Given the description of an element on the screen output the (x, y) to click on. 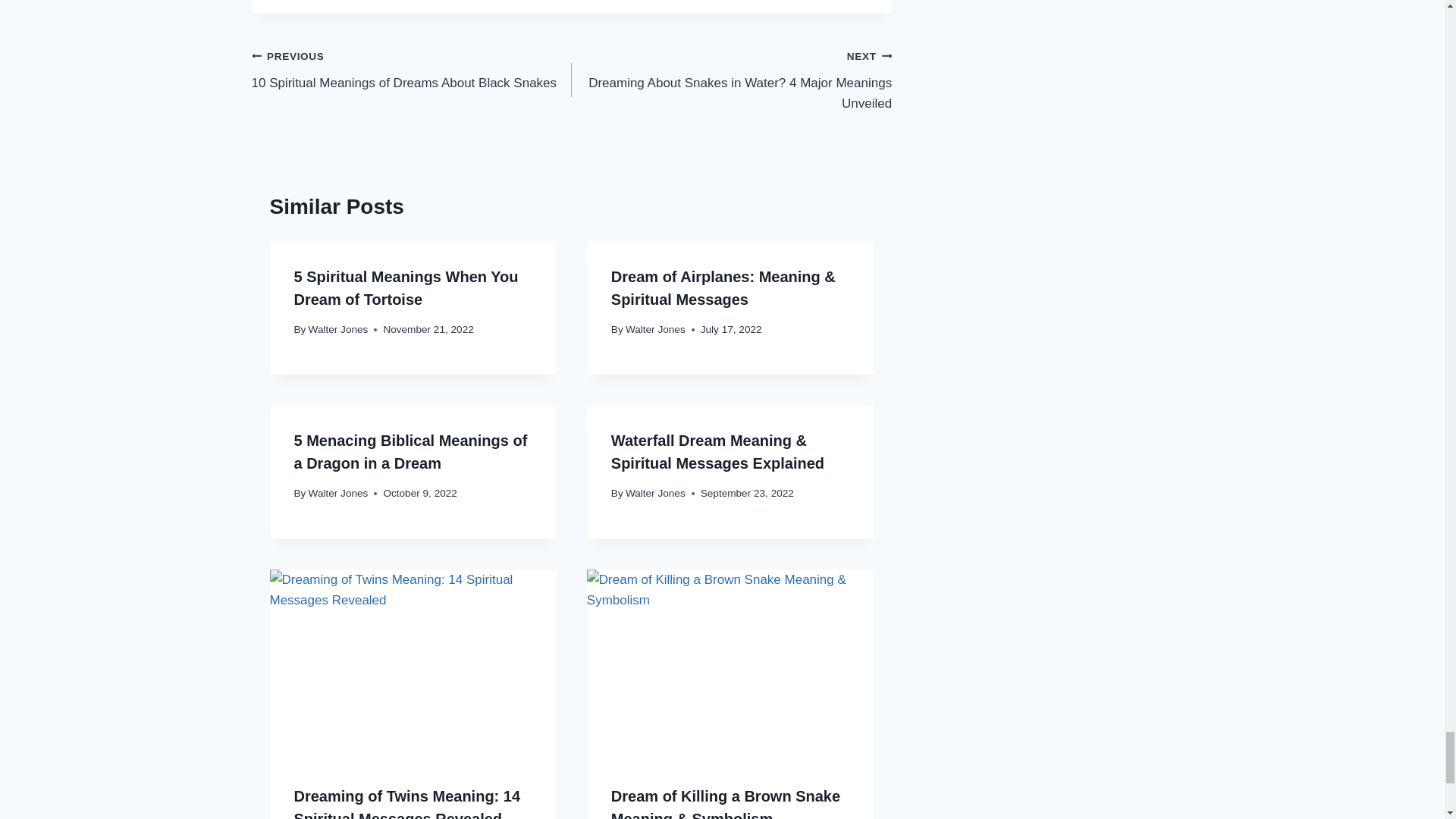
Walter Jones (338, 328)
Walter Jones (338, 492)
Walter Jones (655, 328)
5 Menacing Biblical Meanings of a Dragon in a Dream (410, 451)
5 Spiritual Meanings When You Dream of Tortoise (411, 69)
